Given the description of an element on the screen output the (x, y) to click on. 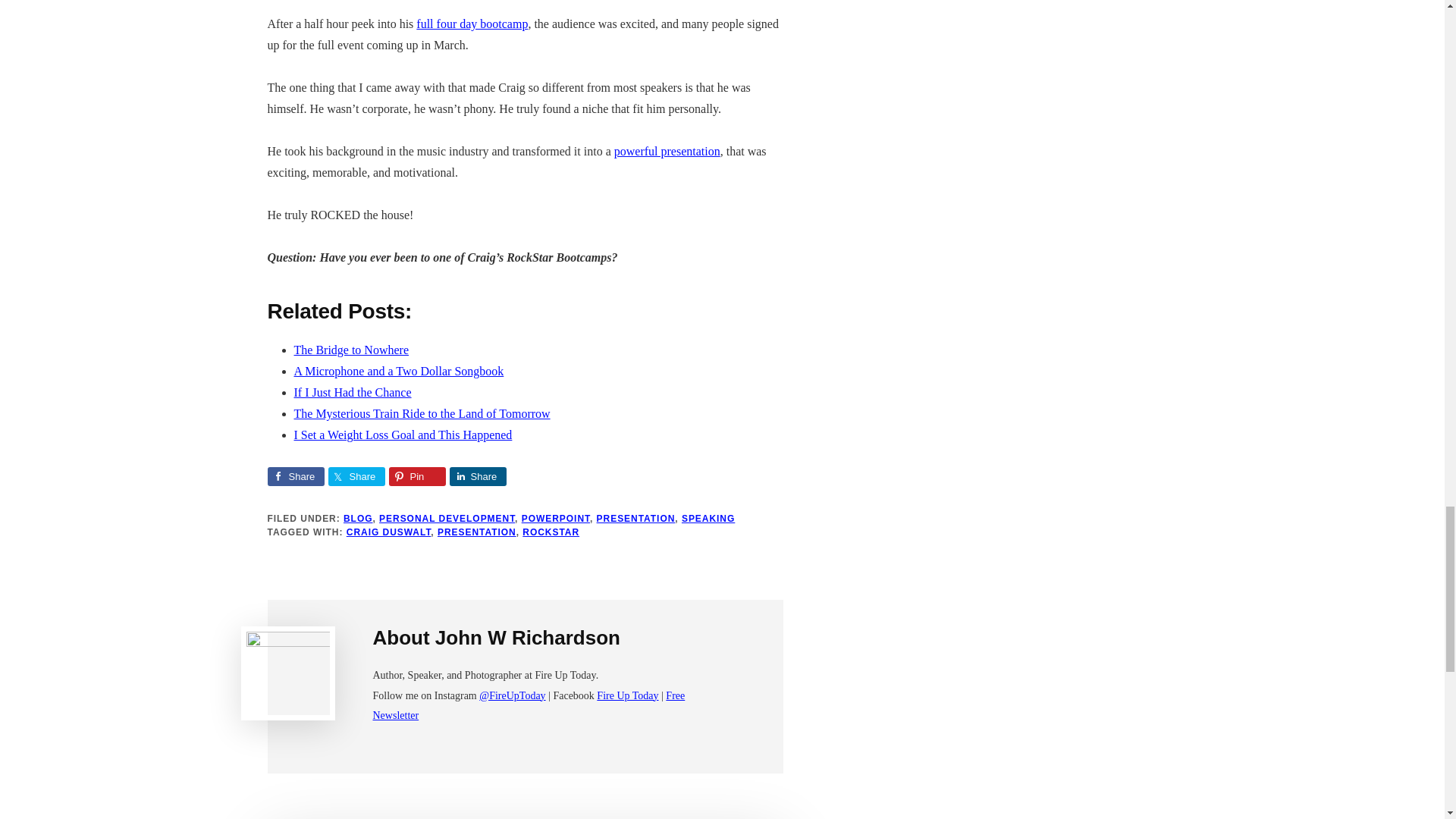
ROCKSTAR (550, 532)
SPEAKING (708, 518)
The Bridge to Nowhere (351, 349)
powerful presentation (667, 151)
Fire Up Today (627, 695)
A Microphone and a Two Dollar Songbook (398, 370)
PRESENTATION (477, 532)
Share (476, 476)
Pin (416, 476)
I Set a Weight Loss Goal and This Happened (403, 434)
